Given the description of an element on the screen output the (x, y) to click on. 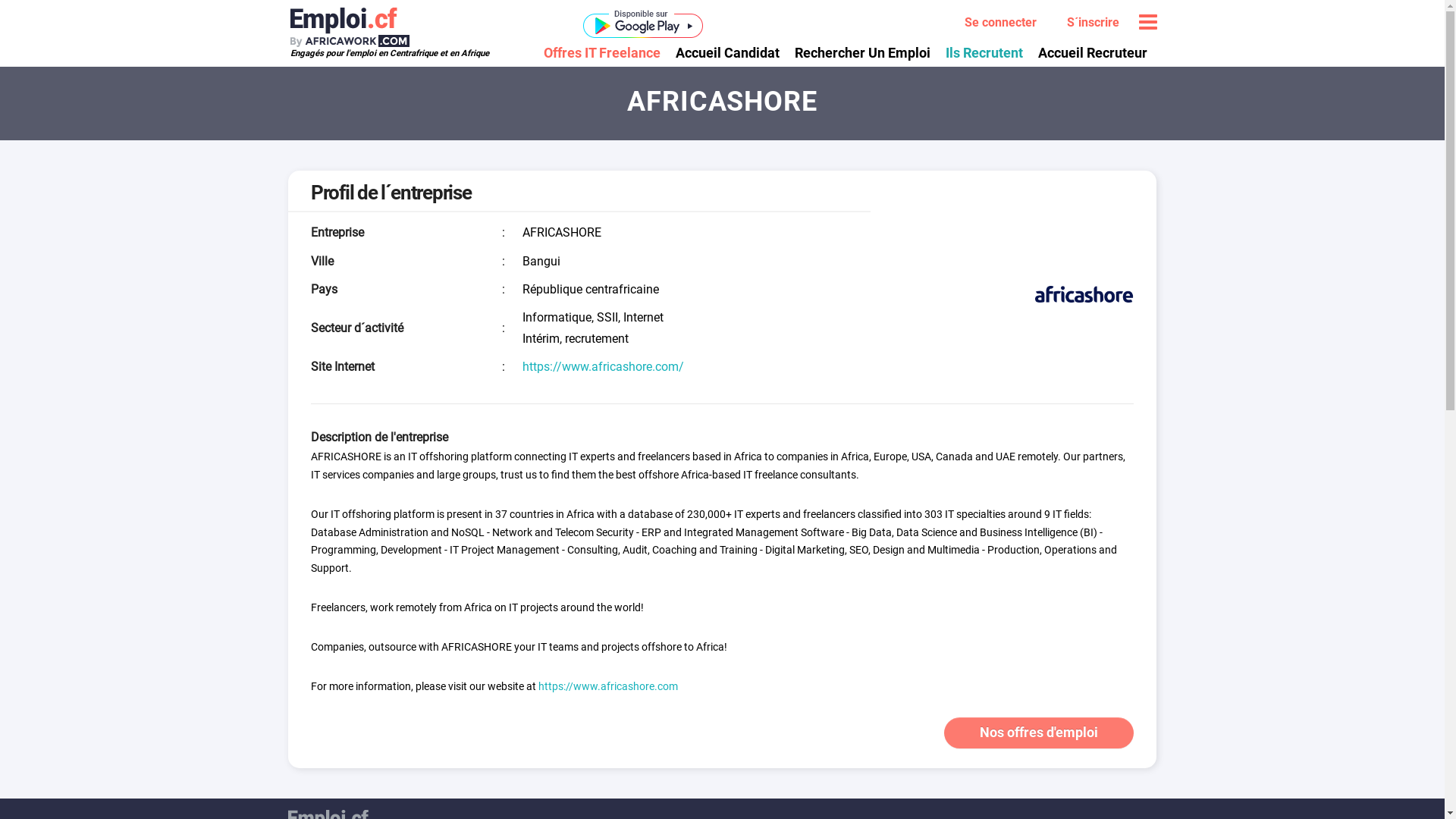
Accueil Recruteur Element type: text (1091, 51)
Nos offres d'emploi Element type: text (1038, 732)
Offres IT Freelance Element type: text (604, 51)
Rechercher Un Emploi Element type: text (862, 51)
https://www.africashore.com/ Element type: text (603, 366)
Se connecter Element type: text (999, 22)
Accueil Candidat Element type: text (726, 51)
Ils Recrutent Element type: text (983, 51)
https://www.africashore.com Element type: text (607, 686)
